Given the description of an element on the screen output the (x, y) to click on. 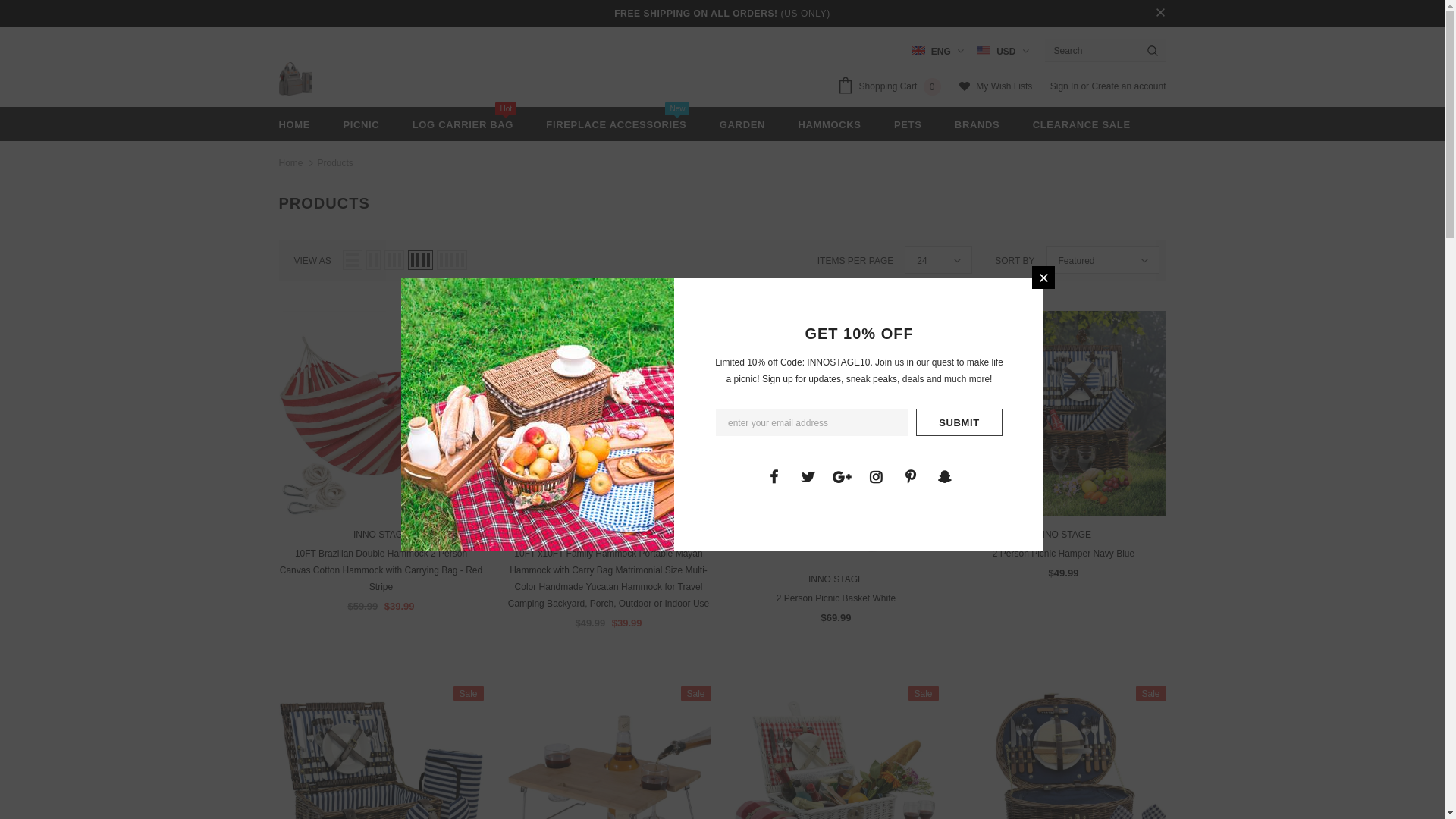
INNO STAGE Element type: text (608, 534)
Google+ Element type: hover (841, 475)
Shopping Cart 0 Element type: text (892, 87)
Sign In Element type: text (1065, 86)
Snapchat Element type: hover (943, 475)
Pinterest Element type: hover (909, 475)
LOG CARRIER BAG
Hot Element type: text (462, 123)
PETS Element type: text (908, 123)
close Element type: hover (1159, 13)
Submit Element type: text (959, 422)
Instagram Element type: hover (875, 475)
Twitter Element type: hover (807, 475)
INNO STAGE Element type: text (835, 579)
HAMMOCKS Element type: text (828, 123)
PICNIC Element type: text (360, 123)
Home Element type: text (291, 162)
INNO STAGE Element type: text (380, 534)
2 Person Picnic Basket White Element type: text (836, 597)
Products Element type: text (335, 162)
INNO STAGE Element type: text (1063, 534)
HOME Element type: text (294, 123)
Close Element type: hover (1043, 277)
Logo Element type: hover (295, 78)
Create an account Element type: text (1128, 86)
GARDEN Element type: text (742, 123)
2 Person Picnic Hamper Navy Blue Element type: text (1063, 553)
CLEARANCE SALE Element type: text (1081, 123)
My Wish Lists Element type: text (995, 87)
BRANDS Element type: text (977, 123)
Facebook Element type: hover (773, 475)
FIREPLACE ACCESSORIES
New Element type: text (616, 123)
